Given the description of an element on the screen output the (x, y) to click on. 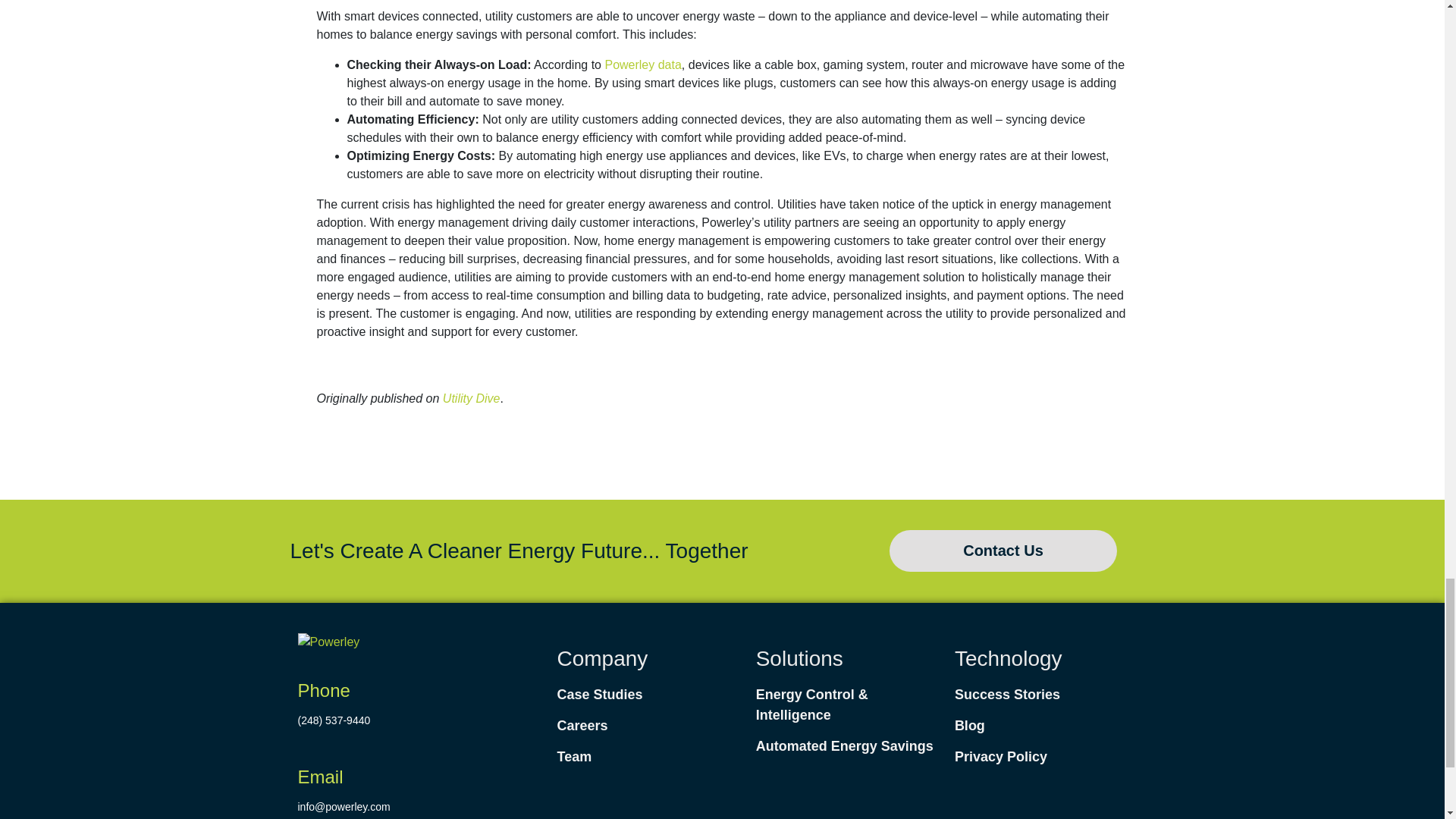
Powerley data (642, 64)
Utility Dive (471, 398)
Contact Us (1002, 550)
Company (601, 658)
